Given the description of an element on the screen output the (x, y) to click on. 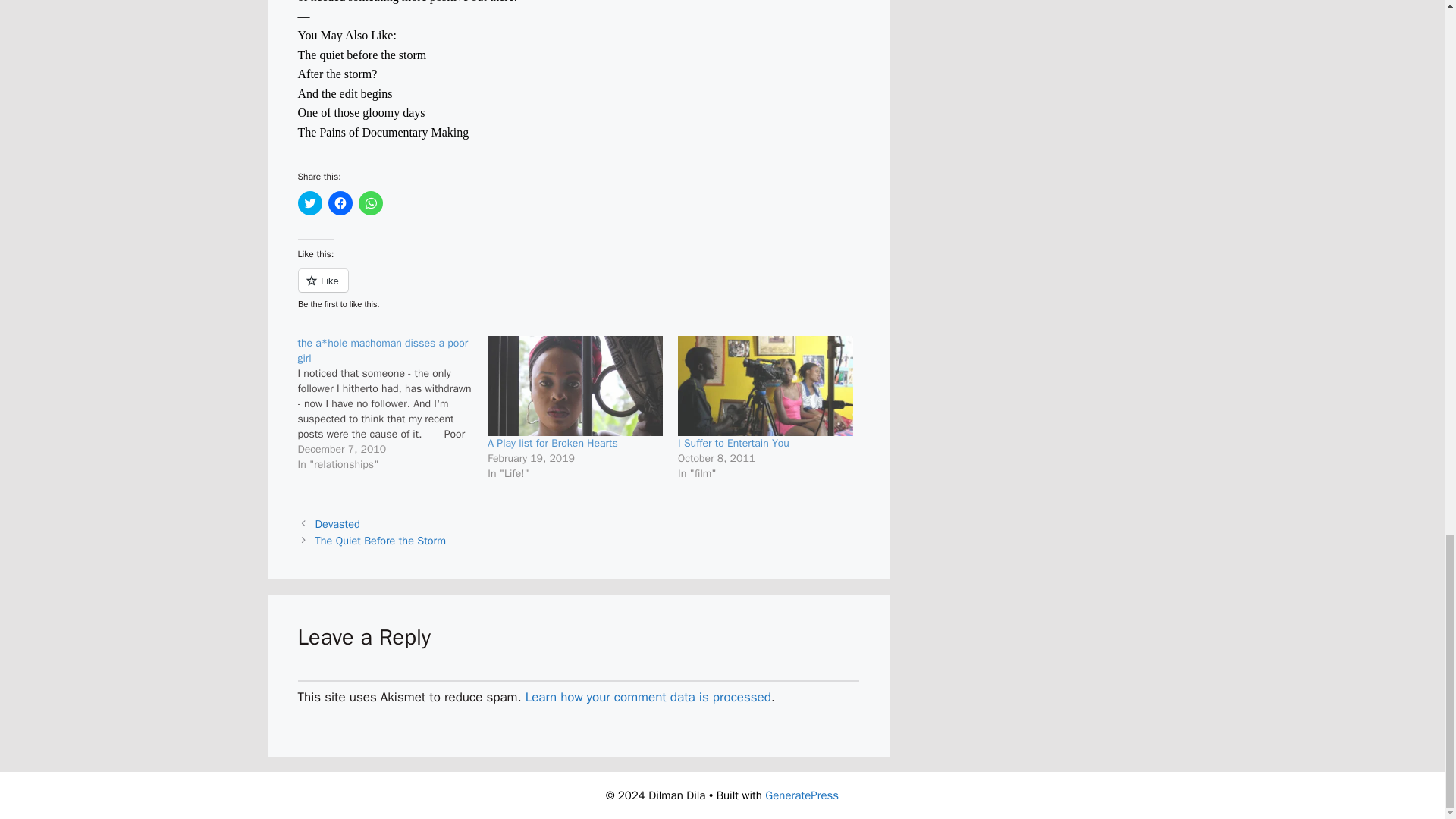
A Play list for Broken Hearts (574, 385)
A Play list for Broken Hearts (552, 442)
Click to share on Twitter (309, 202)
Like or Reblog (578, 289)
Click to share on Facebook (339, 202)
I Suffer to Entertain You (733, 442)
Click to share on WhatsApp (369, 202)
I Suffer to Entertain You (765, 385)
